Given the description of an element on the screen output the (x, y) to click on. 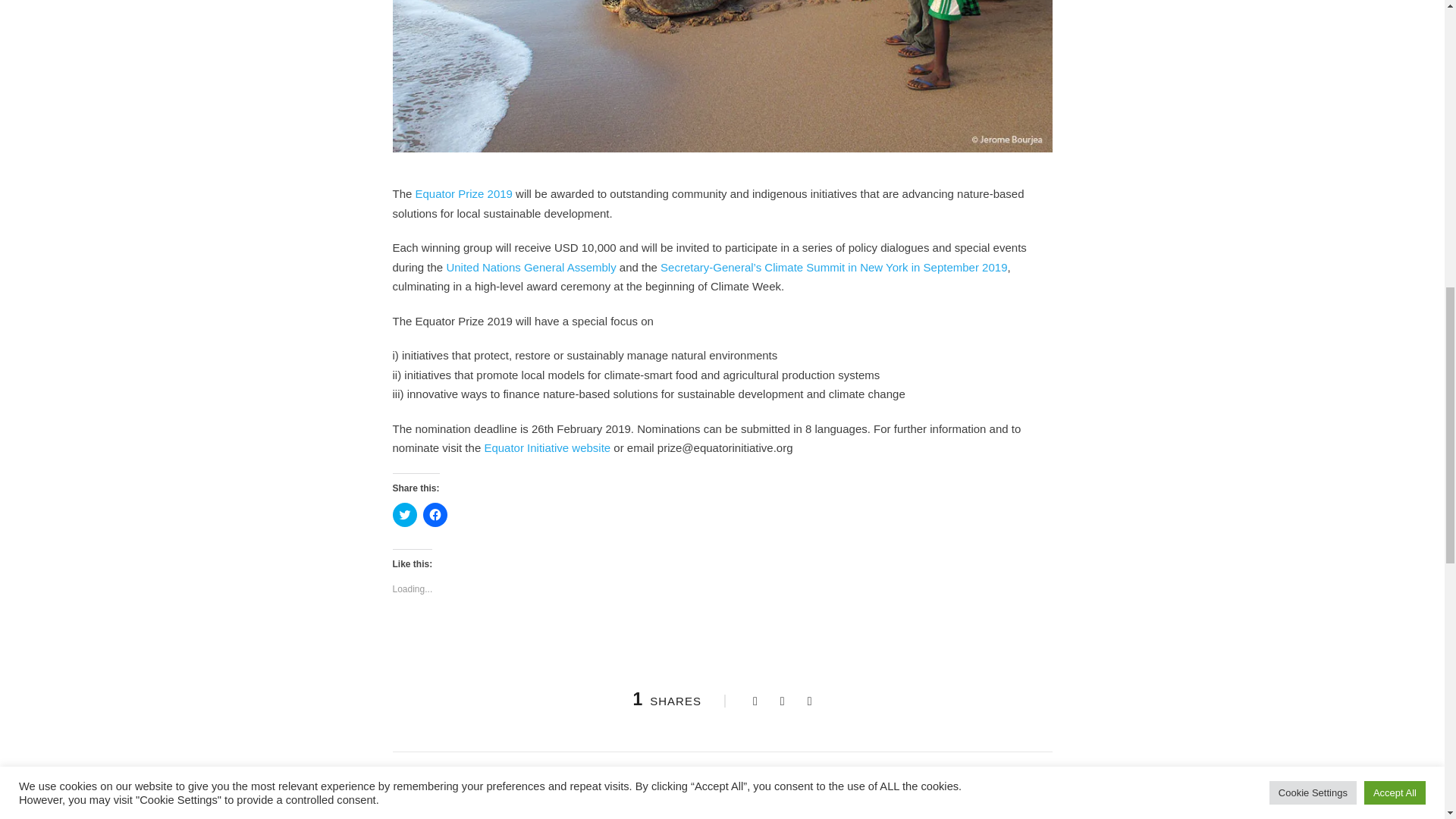
United Nations General Assembly (530, 267)
Jerome-Bourjea-Equator-prize (722, 76)
Equator Initiative website (546, 447)
Equator Prize 2019 (463, 193)
Click to share on Facebook (434, 514)
Click to share on Twitter (404, 514)
